Given the description of an element on the screen output the (x, y) to click on. 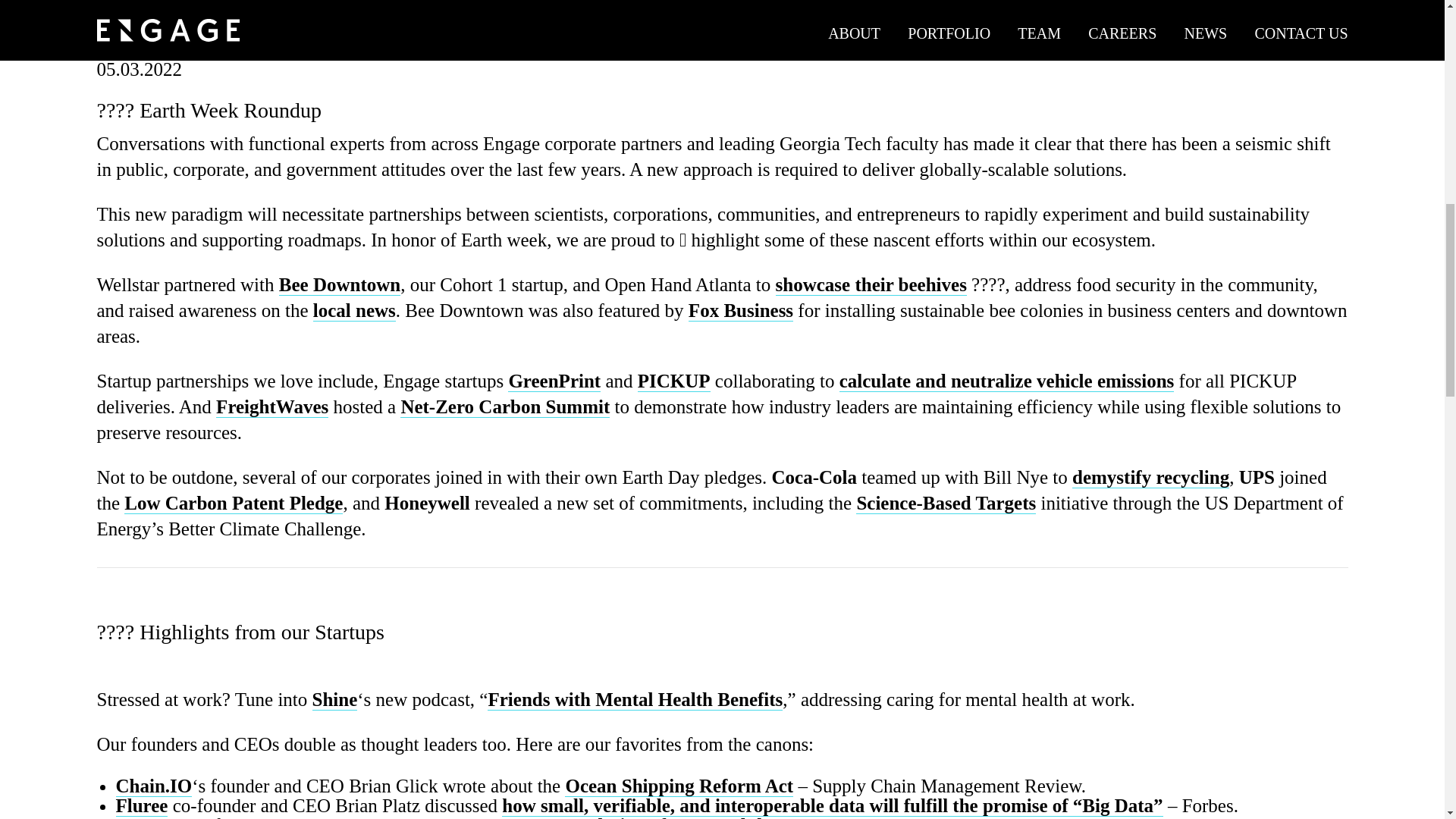
Fluree (141, 805)
Chain.IO (153, 785)
calculate and neutralize vehicle emissions (1007, 381)
Fox Business (740, 310)
Ocean Shipping Reform Act (678, 785)
PICKUP (673, 381)
Bee Downtown (339, 284)
Net-Zero Carbon Summit (505, 406)
demystify recycling (1149, 477)
Science-Based Targets (945, 503)
